Given the description of an element on the screen output the (x, y) to click on. 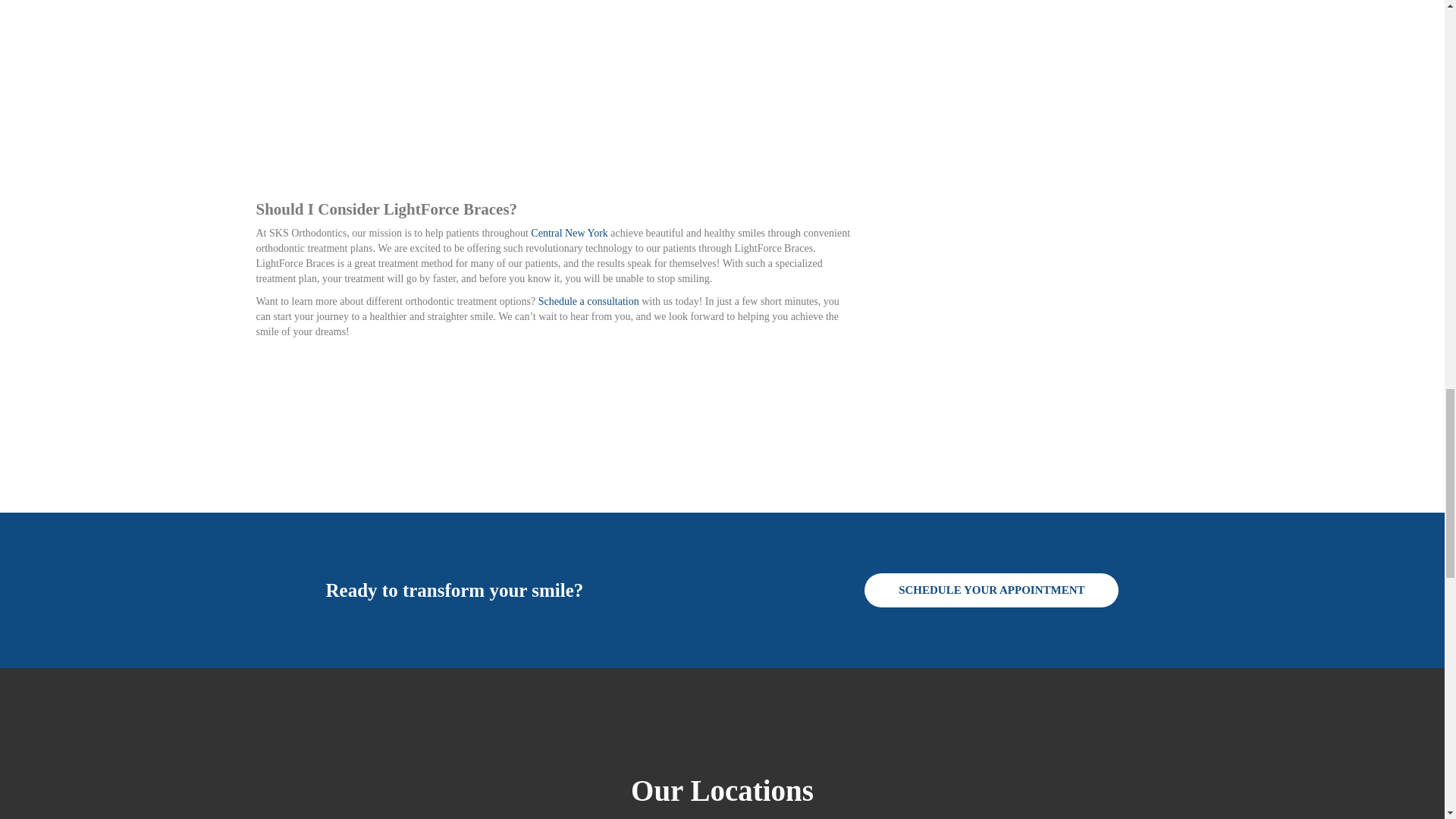
SCHEDULE YOUR APPOINTMENT (991, 590)
Schedule a consultation (590, 301)
Central New York (569, 233)
